Given the description of an element on the screen output the (x, y) to click on. 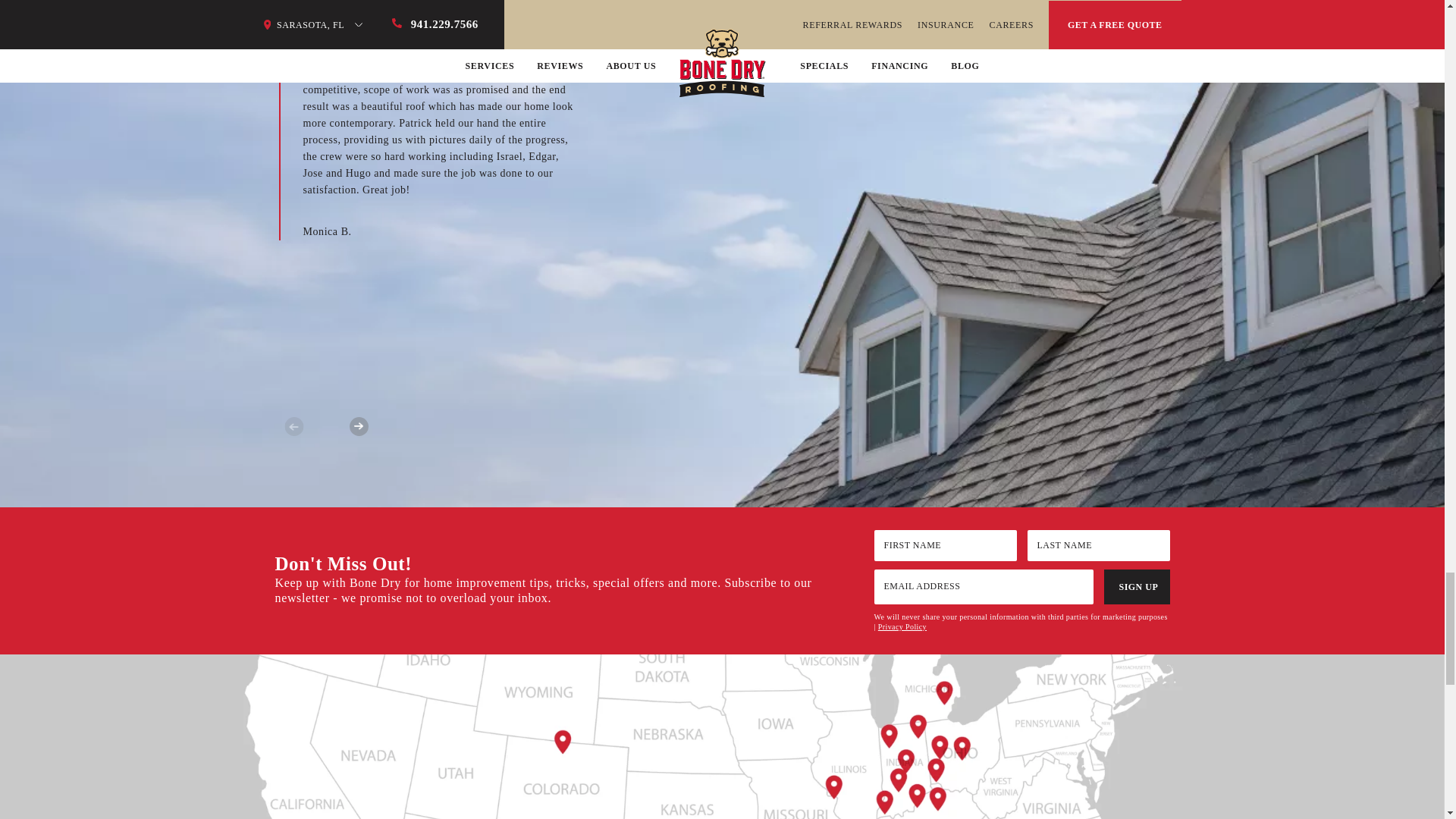
Sign Up (1136, 586)
